Given the description of an element on the screen output the (x, y) to click on. 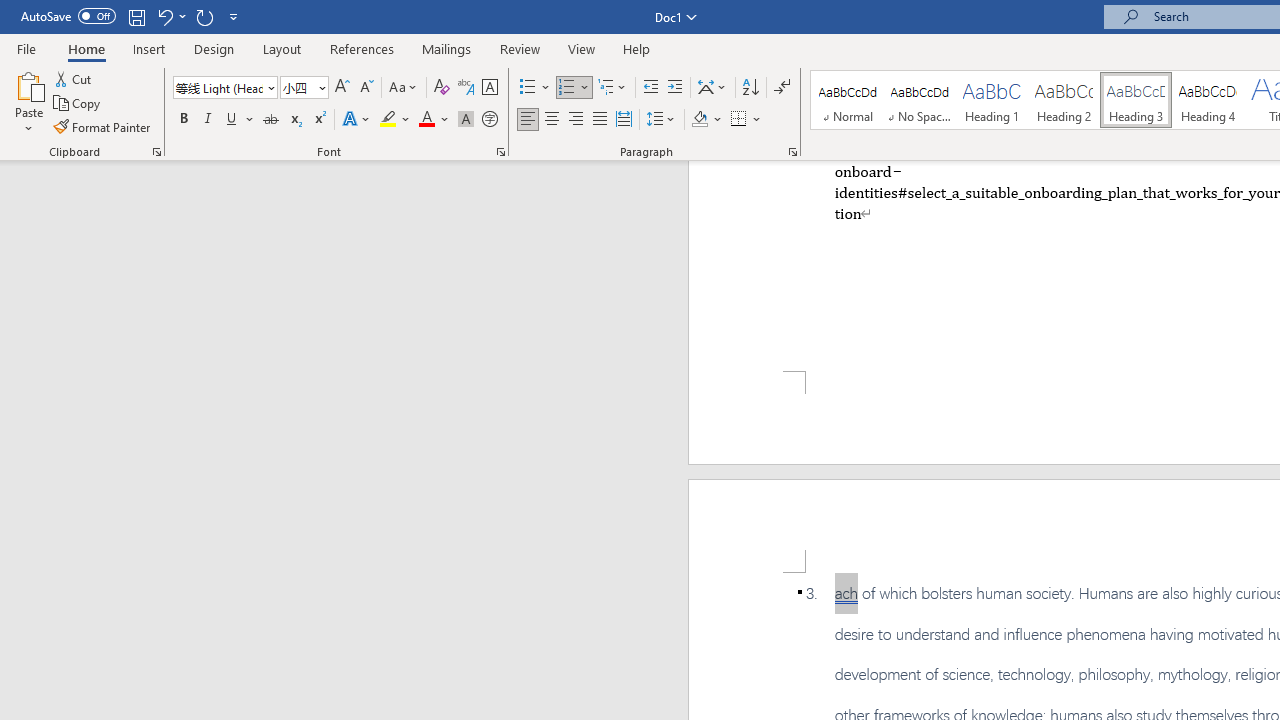
Center (552, 119)
Text Effects and Typography (357, 119)
Shading (706, 119)
Cut (73, 78)
